Given the description of an element on the screen output the (x, y) to click on. 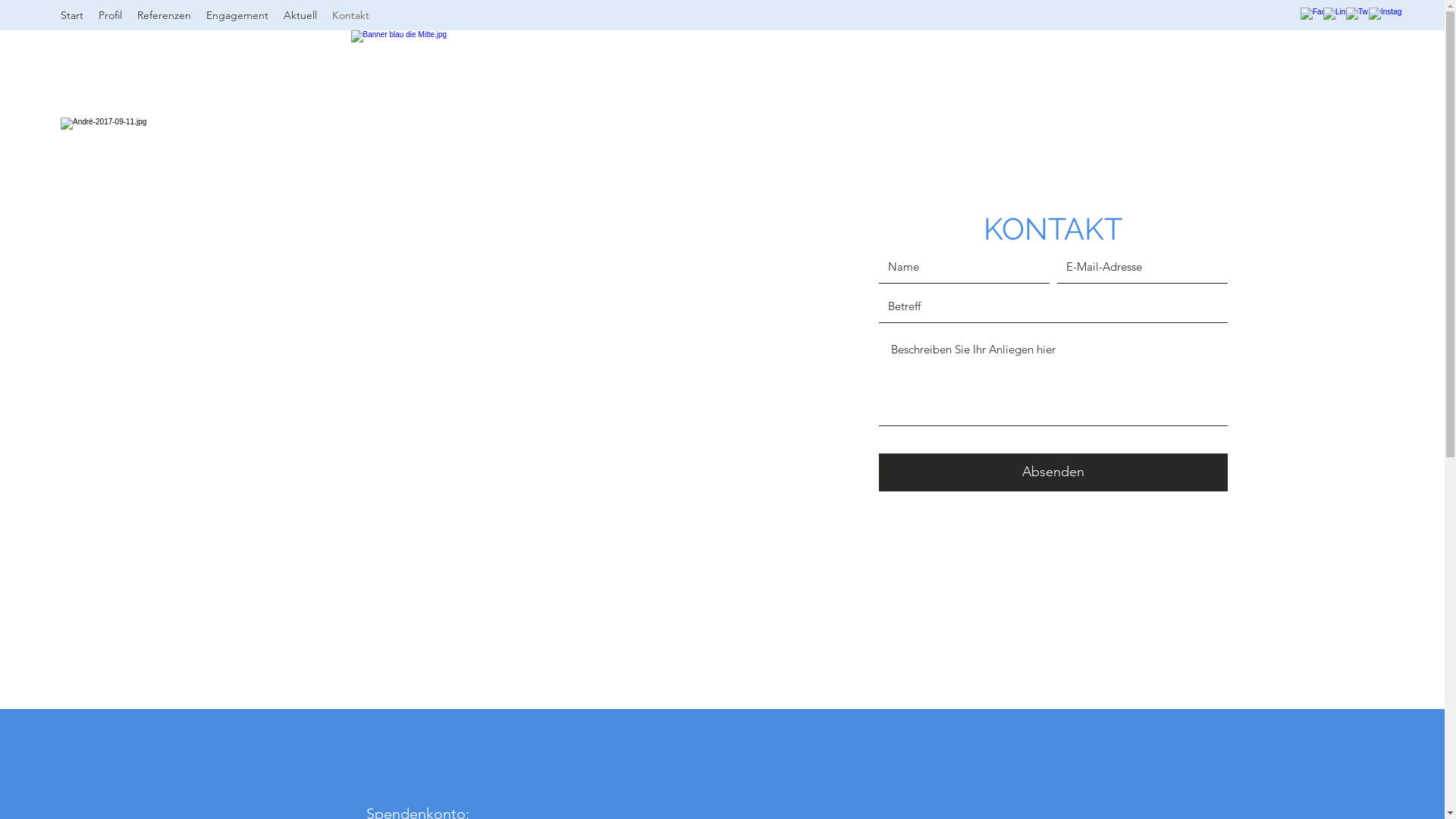
Absenden Element type: text (1052, 472)
Kontakt Element type: text (350, 14)
Aktuell Element type: text (300, 14)
Profil Element type: text (110, 14)
Referenzen Element type: text (163, 14)
Start Element type: text (72, 14)
Engagement Element type: text (237, 14)
